Given the description of an element on the screen output the (x, y) to click on. 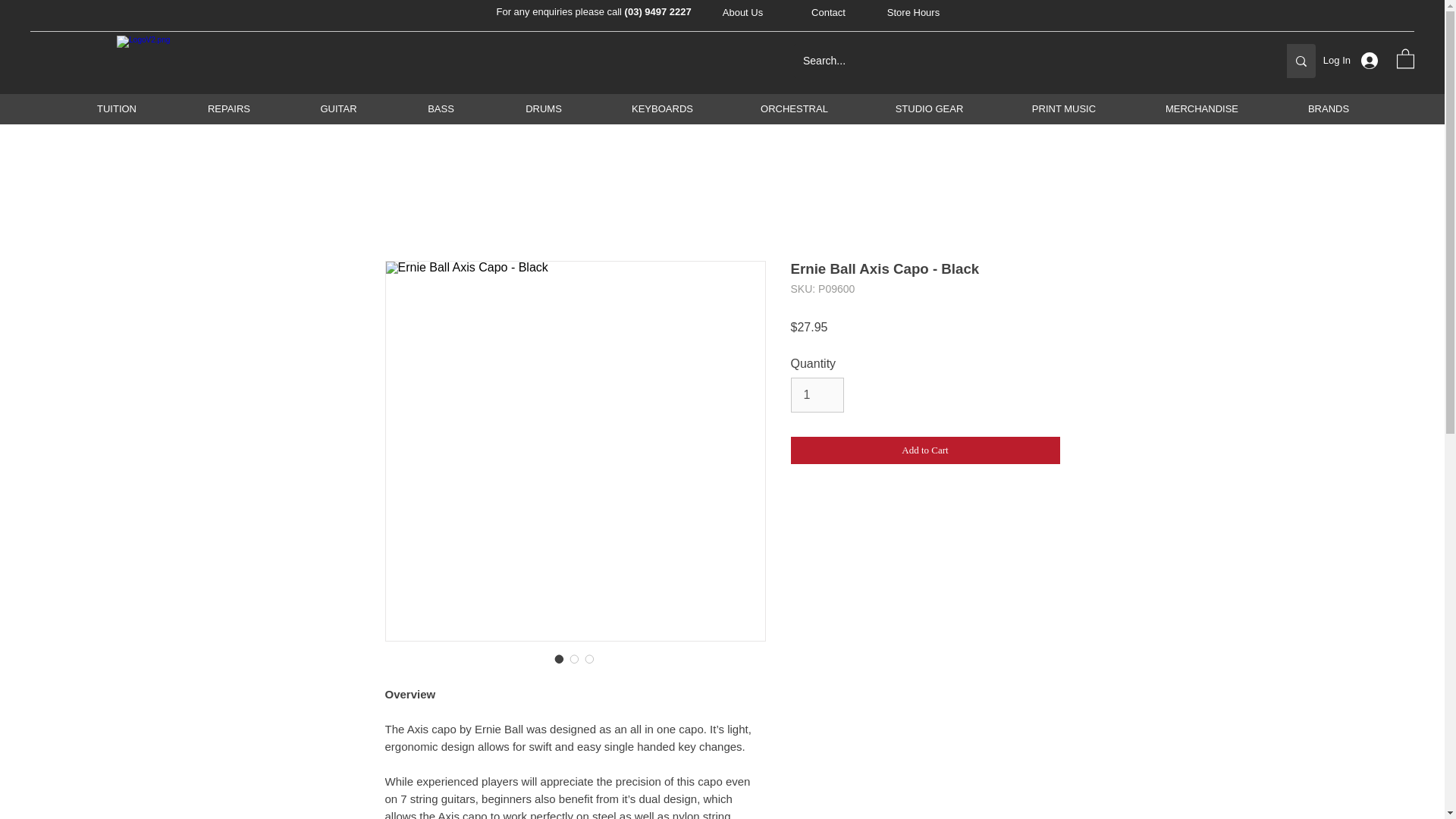
Store Hours (913, 12)
1 (817, 394)
Contact (828, 12)
REPAIRS (228, 108)
TUITION (117, 108)
Log In (1356, 60)
